Given the description of an element on the screen output the (x, y) to click on. 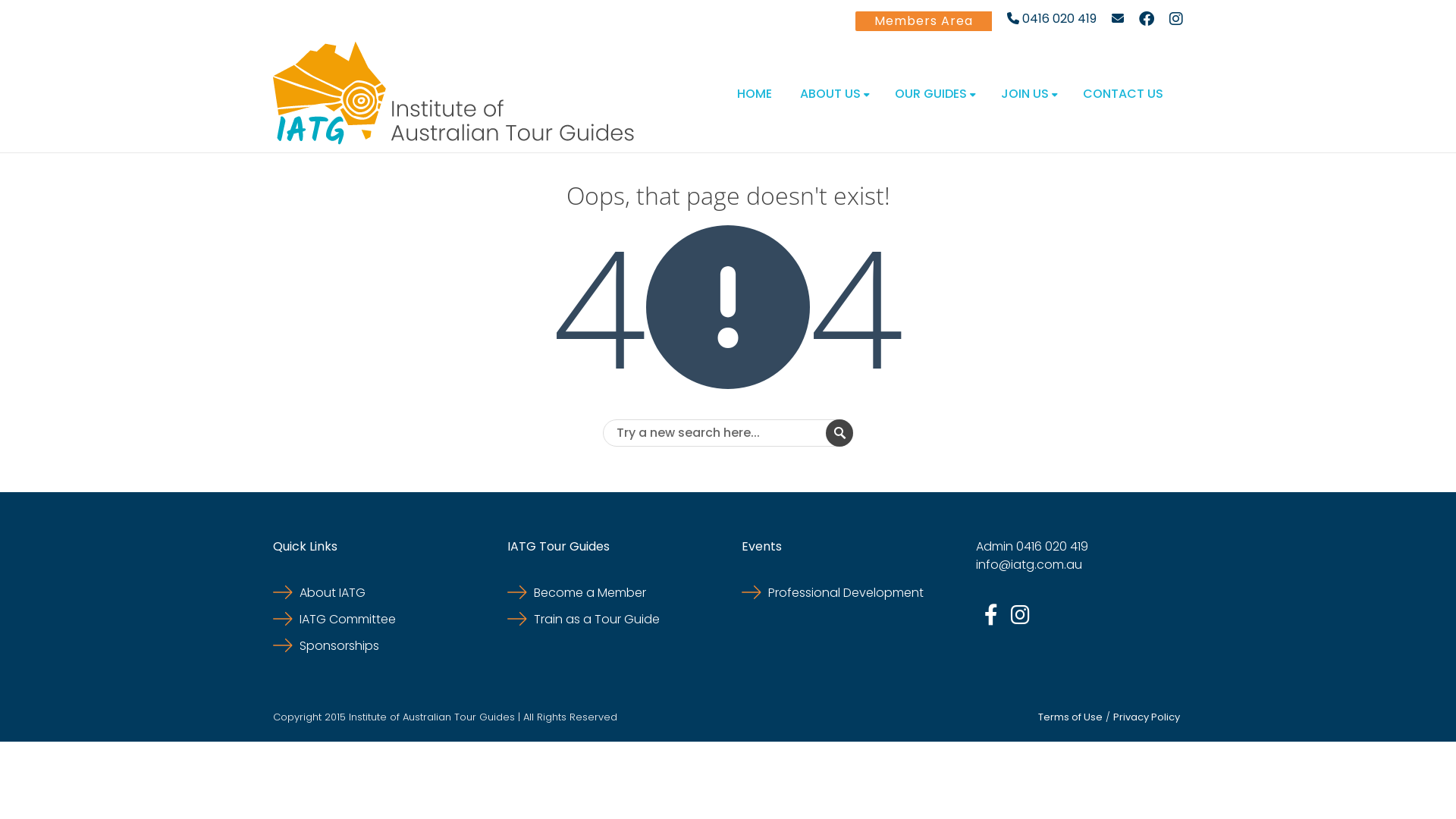
About IATG Element type: text (319, 592)
0416 020 419 Element type: text (1051, 18)
JOIN US Element type: text (1027, 92)
Become a Member Element type: text (576, 592)
mail-contact Element type: hover (1117, 18)
Members Area Element type: text (923, 21)
Sponsorships Element type: text (326, 645)
Professional Development Element type: text (832, 592)
Try a new search here... Element type: text (727, 432)
Privacy Policy Element type: text (1146, 716)
info@iatg.com.au Element type: text (1028, 564)
Terms of Use Element type: text (1070, 716)
IATG Committee Element type: text (334, 618)
Train as a Tour Guide Element type: text (583, 618)
Admin 0416 020 419 Element type: text (1031, 546)
HOME Element type: text (754, 92)
submit Element type: text (839, 432)
ABOUT US Element type: text (833, 92)
CONTACT US Element type: text (1122, 92)
IATG Element type: hover (454, 92)
OUR GUIDES Element type: text (933, 92)
